Given the description of an element on the screen output the (x, y) to click on. 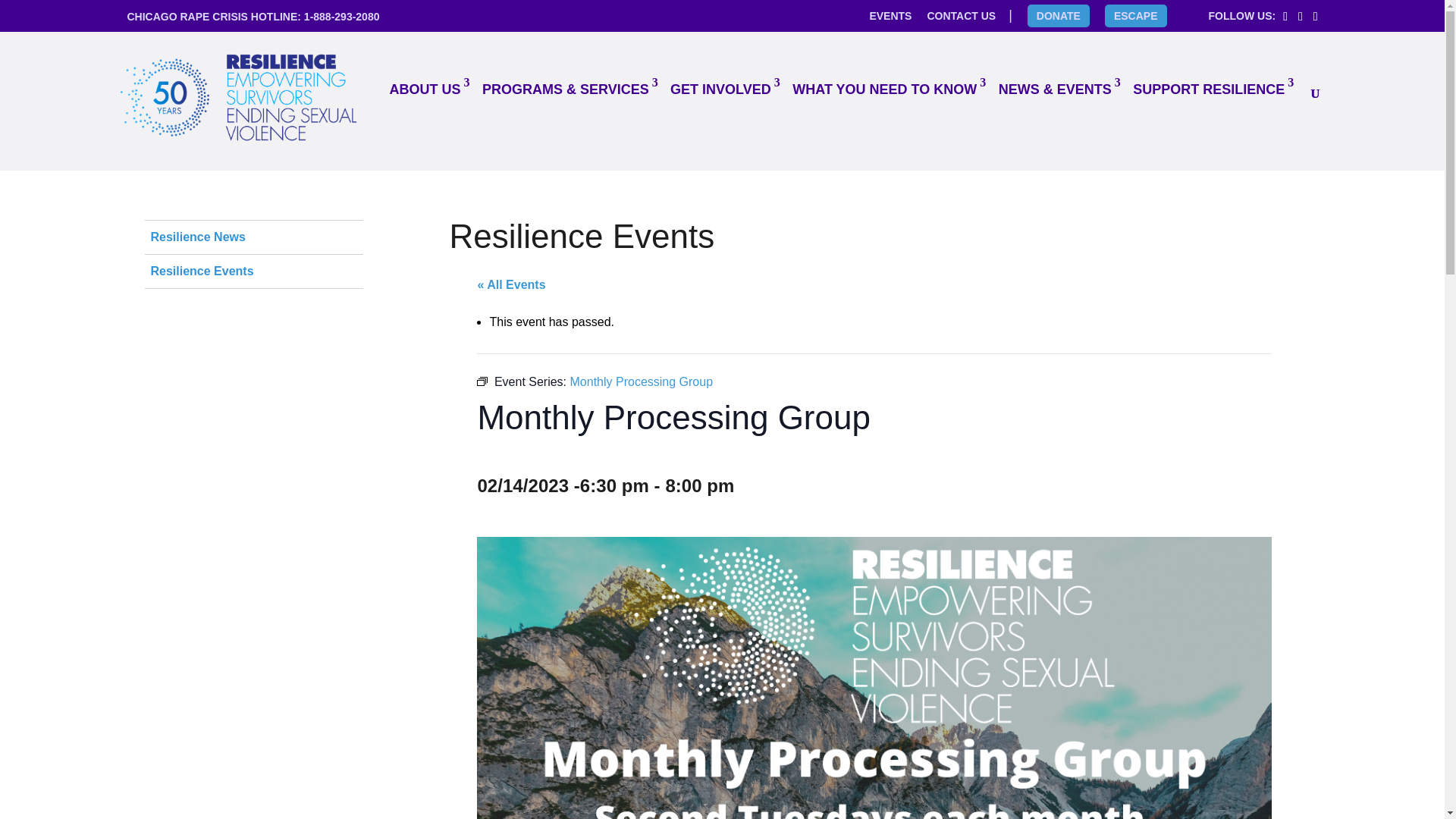
CONTACT US (960, 15)
EVENTS (890, 15)
ESCAPE (1135, 15)
ABOUT US (424, 88)
DONATE (1058, 15)
SUPPORT RESILIENCE (1209, 88)
WHAT YOU NEED TO KNOW (884, 88)
GET INVOLVED (720, 88)
CHICAGO RAPE CRISIS HOTLINE: 1-888-293-2080 (254, 16)
Event Series (482, 380)
